Given the description of an element on the screen output the (x, y) to click on. 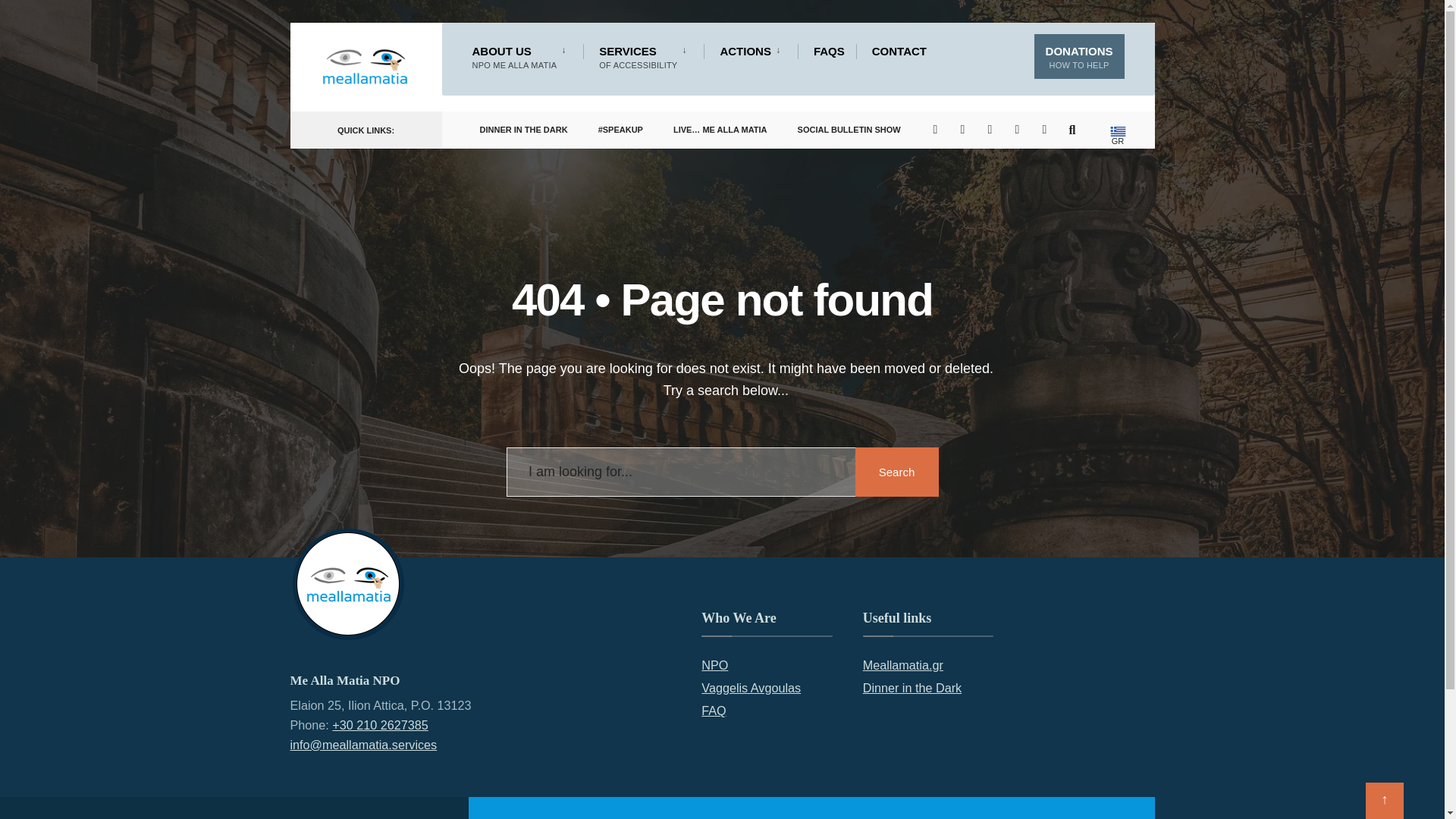
Skip to content (296, 26)
TikTok (645, 56)
I am looking for... (1047, 129)
LinkedIn (722, 471)
Scroll to top (1020, 129)
Instagram (1384, 800)
YouTube (965, 129)
Facebook (993, 129)
